Given the description of an element on the screen output the (x, y) to click on. 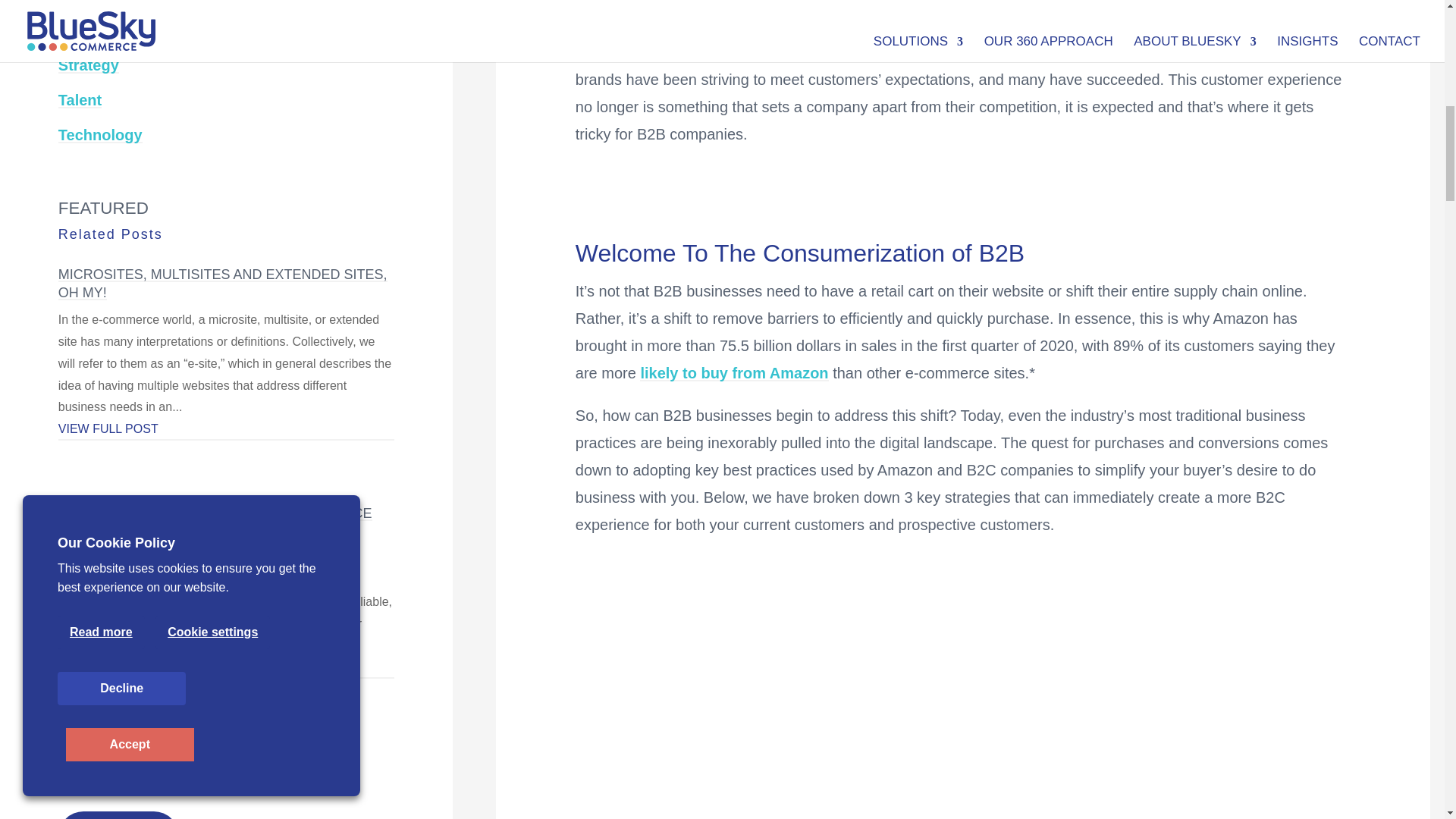
MICROSITES, MULTISITES AND EXTENDED SITES, OH MY! (222, 282)
Technology (100, 134)
Talent (79, 99)
News (77, 2)
Cm-New-Marketing-Funnel-Infographic- (944, 753)
Press Releases (114, 30)
Strategy (88, 64)
